Given the description of an element on the screen output the (x, y) to click on. 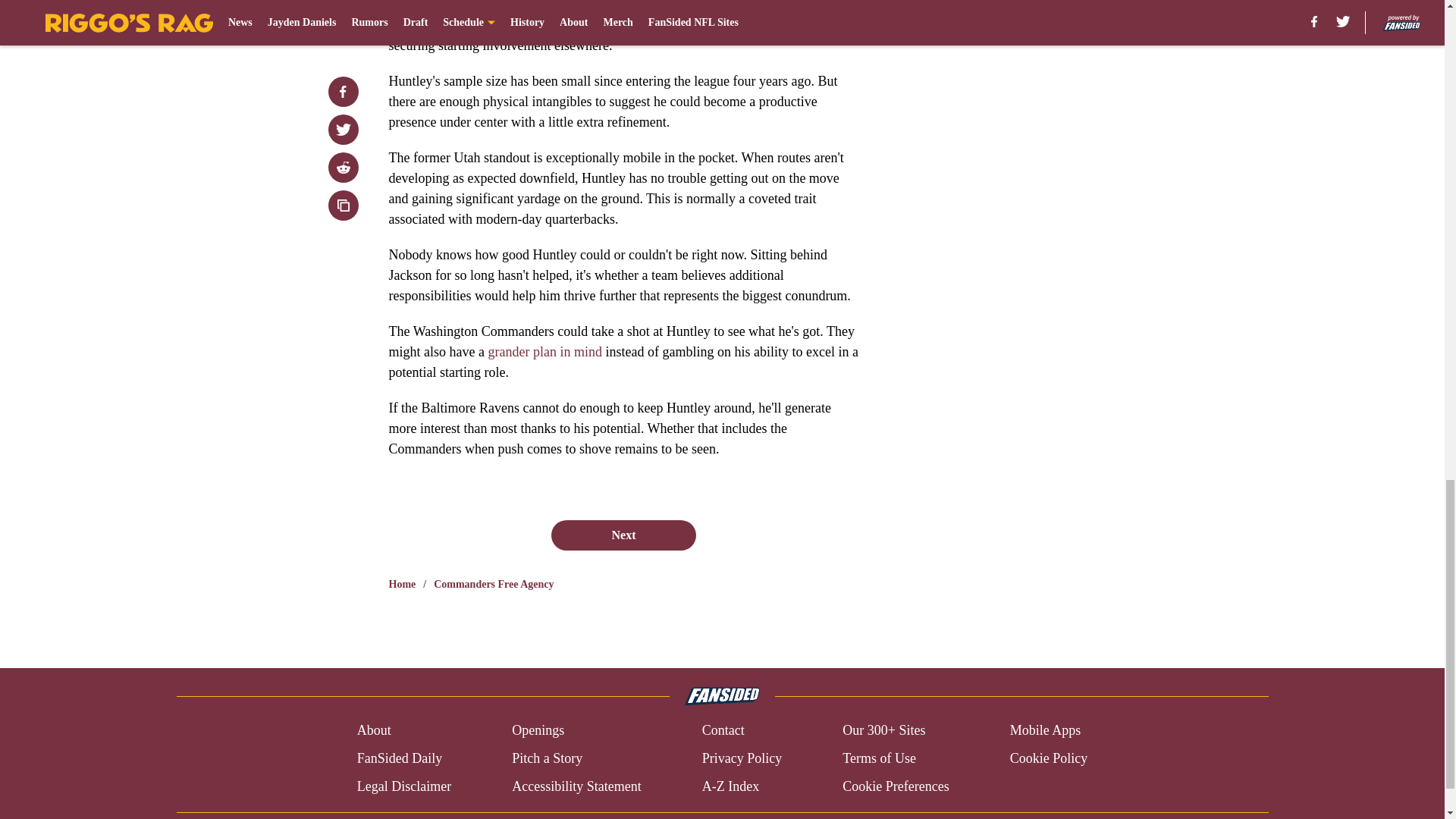
Pitch a Story (547, 758)
FanSided Daily (399, 758)
grander plan in mind (544, 351)
Commanders Free Agency (493, 584)
Legal Disclaimer (403, 786)
Contact (722, 730)
Home (401, 584)
Next (622, 535)
Terms of Use (879, 758)
Openings (538, 730)
